Given the description of an element on the screen output the (x, y) to click on. 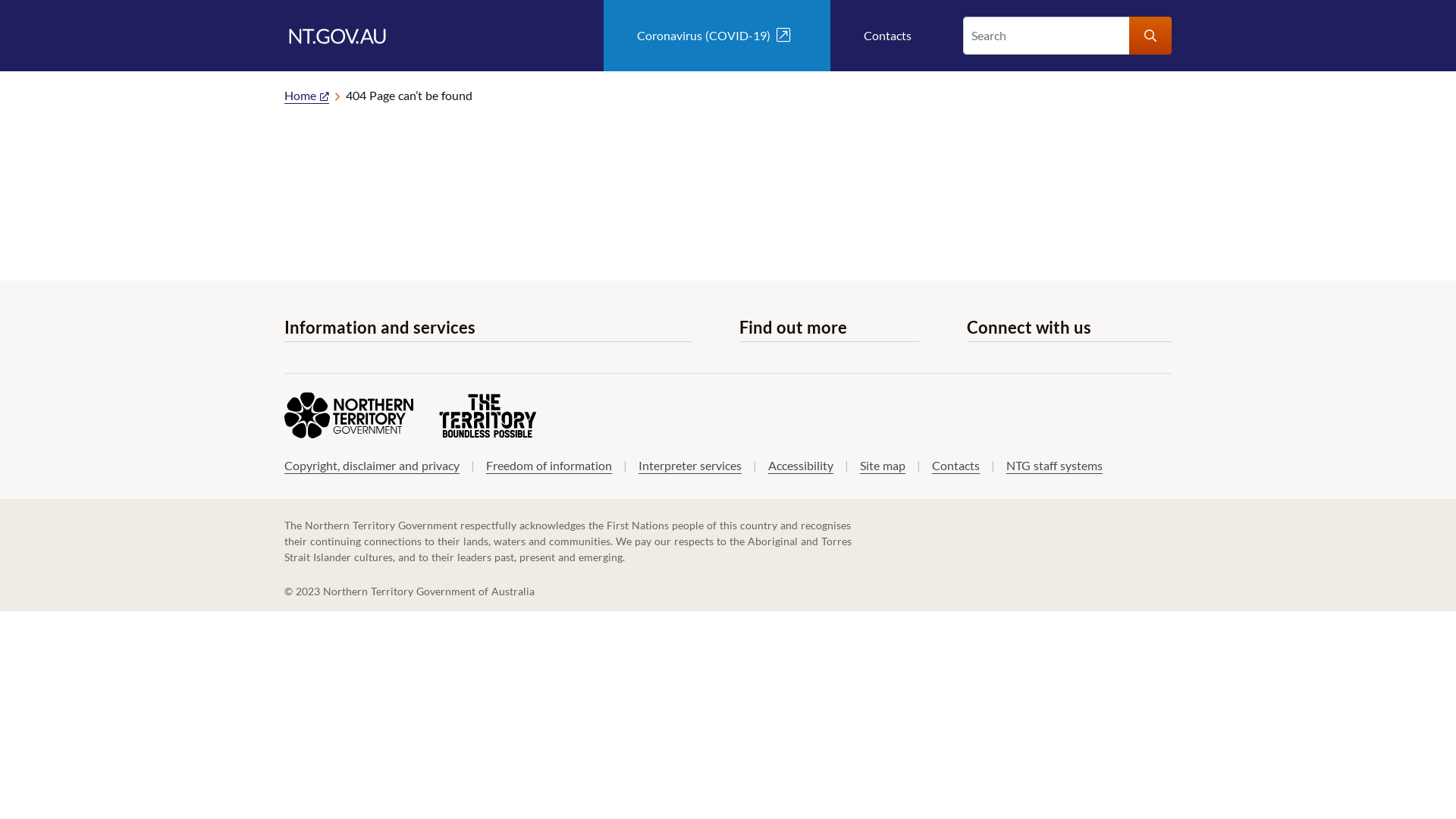
Coronavirus (COVID-19)   Element type: text (716, 35)
NT.GOV.AU Element type: text (338, 34)
NTG staff systems Element type: text (1054, 465)
Contacts Element type: text (955, 465)
Interpreter services Element type: text (689, 465)
Copyright, disclaimer and privacy Element type: text (371, 465)
Accessibility Element type: text (800, 465)
Freedom of information Element type: text (548, 465)
Contacts Element type: text (887, 35)
Home Element type: text (306, 95)
Site map Element type: text (882, 465)
Search Element type: text (1150, 35)
